Given the description of an element on the screen output the (x, y) to click on. 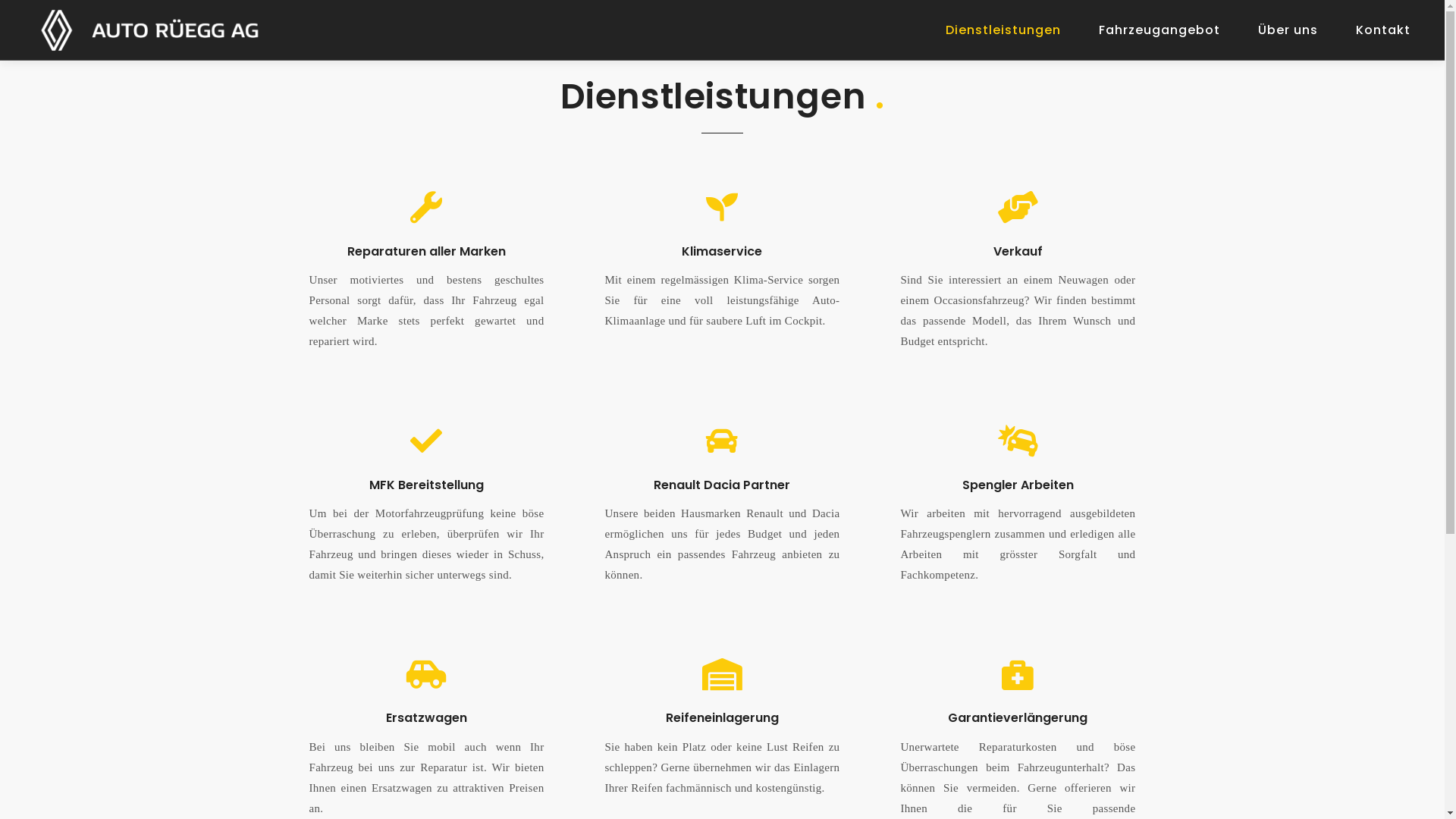
Kontakt Element type: text (1382, 30)
Fahrzeugangebot Element type: text (1159, 30)
Dienstleistungen Element type: text (1002, 30)
